Given the description of an element on the screen output the (x, y) to click on. 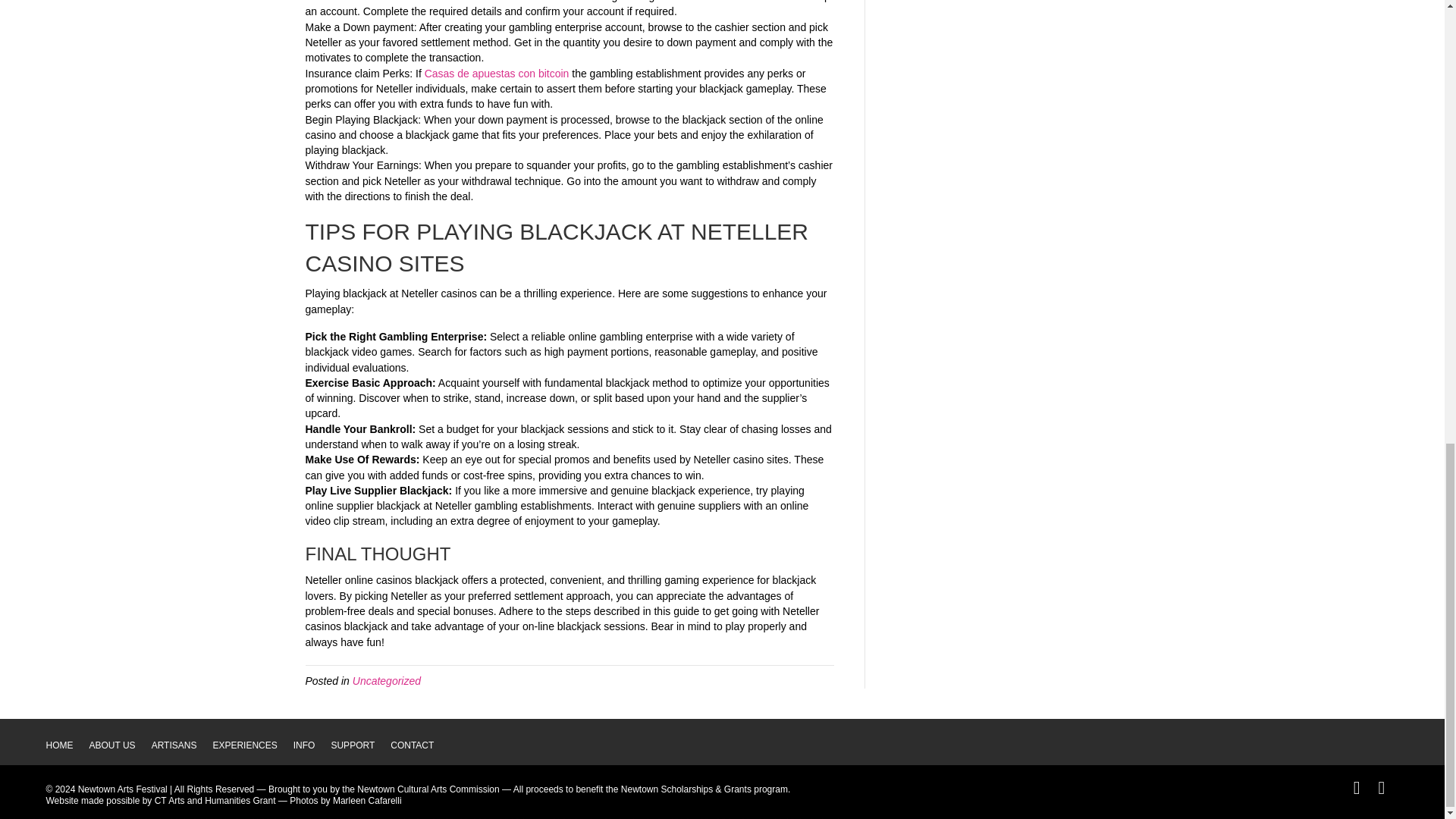
Casas de apuestas con bitcoin (497, 73)
CONTACT (419, 745)
HOME (66, 745)
INFO (312, 745)
ARTISANS (181, 745)
SUPPORT (360, 745)
ABOUT US (119, 745)
EXPERIENCES (252, 745)
Uncategorized (386, 680)
